Given the description of an element on the screen output the (x, y) to click on. 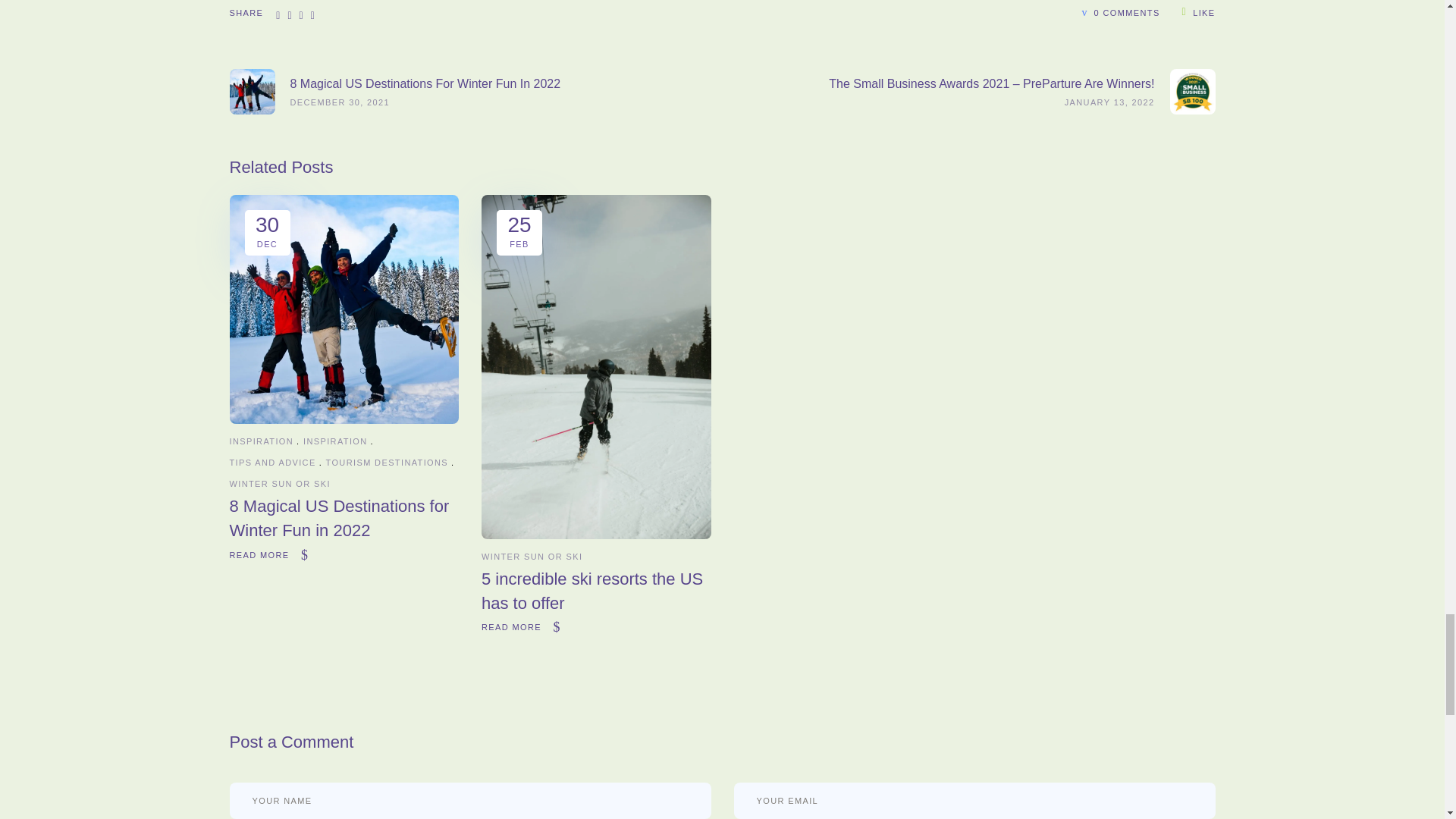
5 incredible ski resorts the US has to offer (596, 534)
8 Magical US Destinations for Winter Fun in 2022 (338, 517)
8 Magical US Destinations for Winter Fun in 2022 9 (251, 91)
Like this (1198, 11)
8 Magical US Destinations for Winter Fun in 2022 11 (343, 309)
The Small Business Awards 2021 - PreParture are Winners! 10 (1191, 91)
8 Magical US Destinations for Winter Fun in 2022 (343, 419)
